Given the description of an element on the screen output the (x, y) to click on. 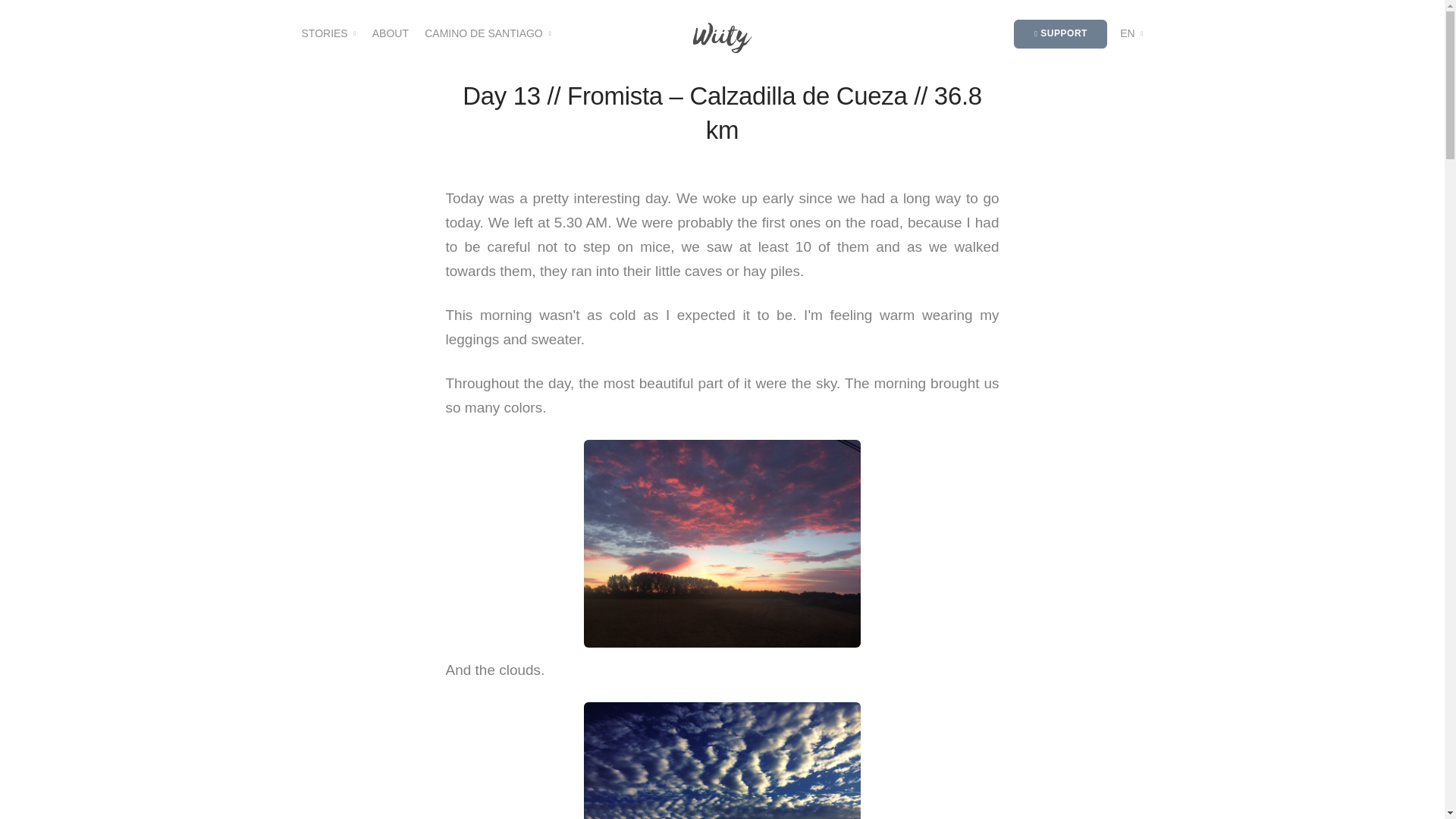
SUPPORT (1059, 33)
ABOUT (390, 33)
Receive Newsletter (1009, 426)
